Given the description of an element on the screen output the (x, y) to click on. 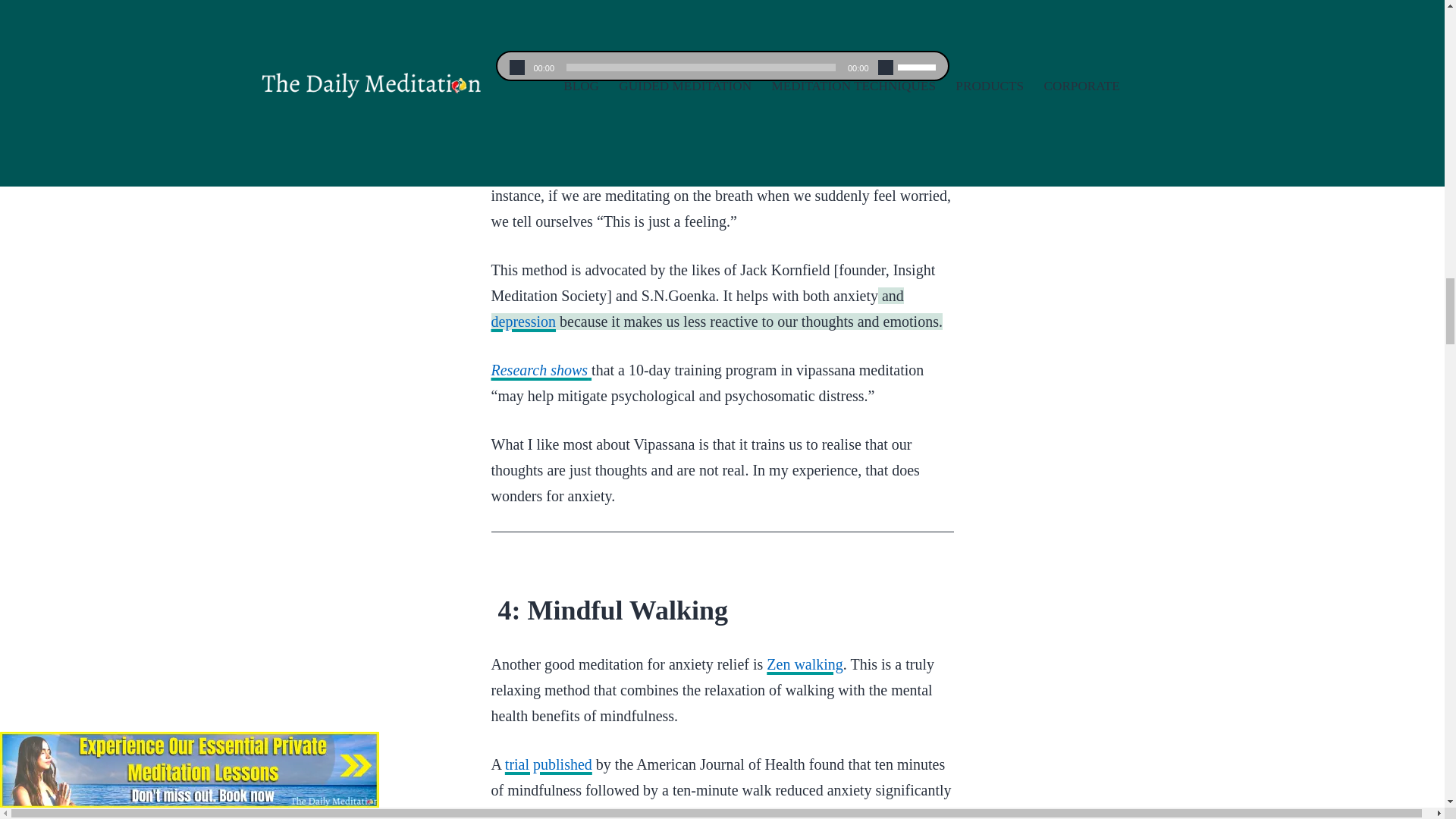
Zen walking (805, 664)
depression (524, 321)
trial published (548, 764)
Research shows  (542, 369)
